Given the description of an element on the screen output the (x, y) to click on. 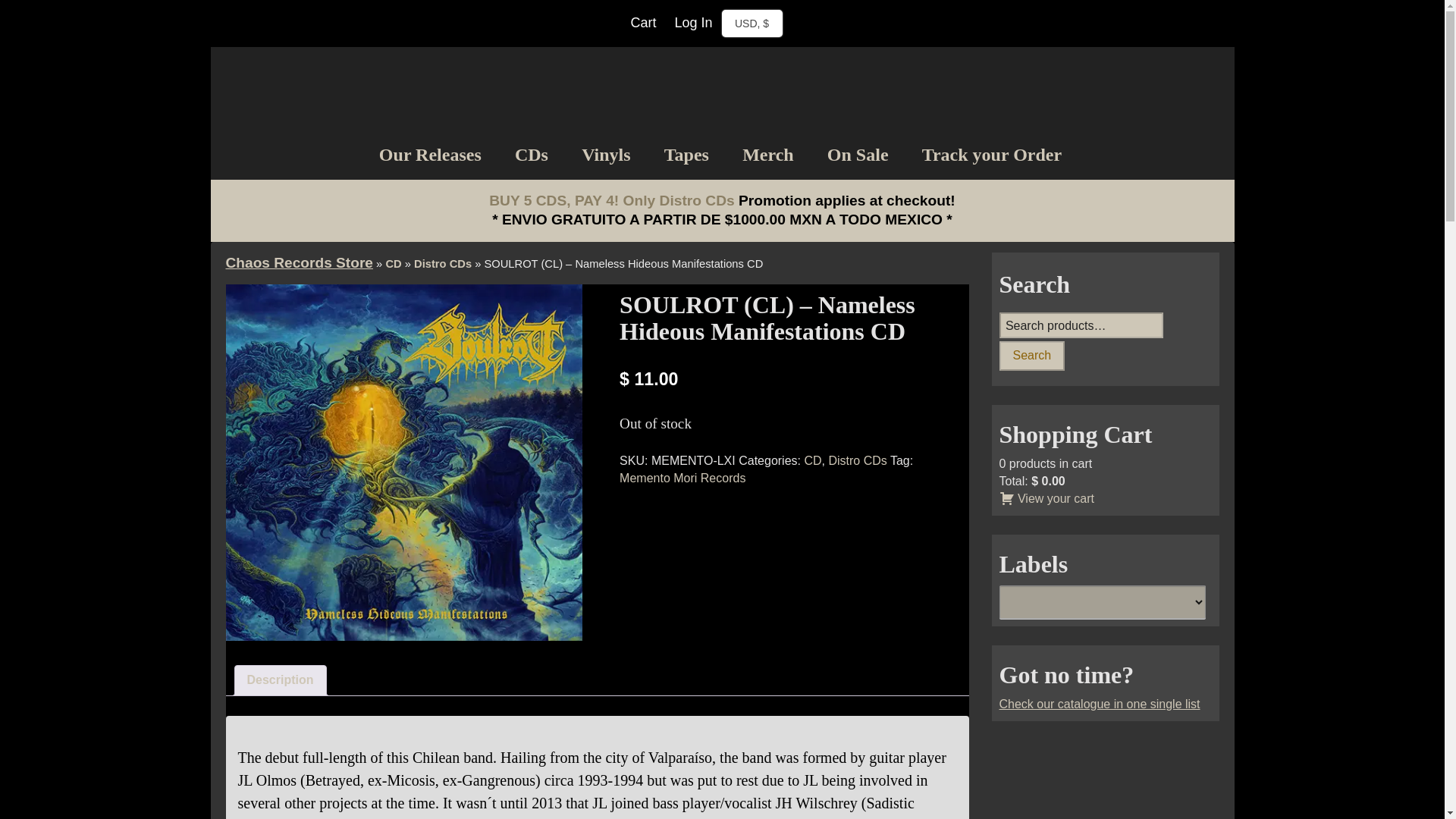
CDs (530, 154)
Distro CDs (857, 460)
Track your Order (991, 154)
Tapes (686, 154)
Log In (692, 22)
Memento Mori Records (682, 477)
Description (280, 680)
On Sale (857, 154)
Soulrot cover 500 x 500 (403, 462)
CD (812, 460)
